Given the description of an element on the screen output the (x, y) to click on. 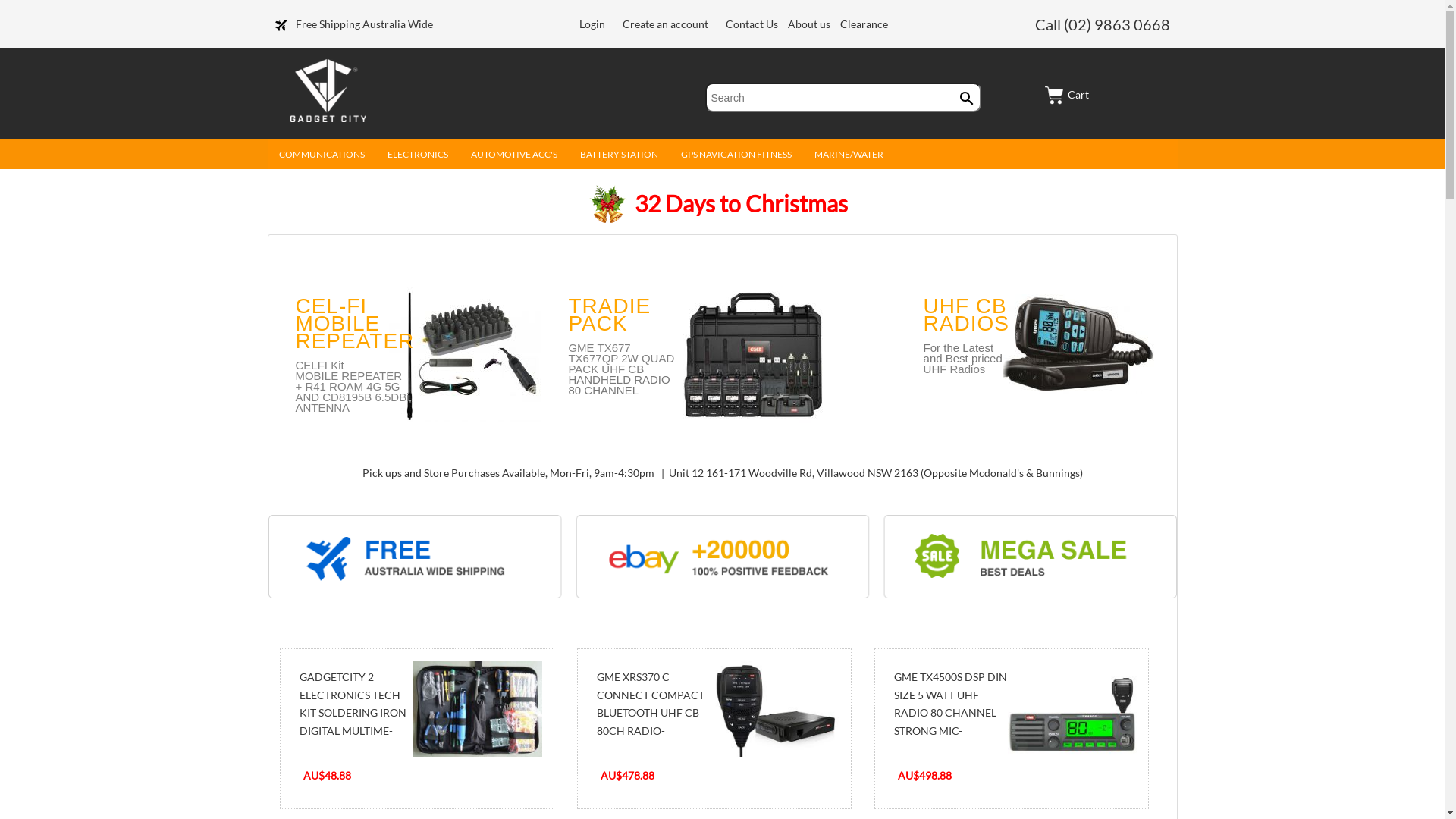
ELECTRONICS Element type: text (417, 157)
BATTERY STATION Element type: text (618, 157)
About us Element type: text (809, 23)
UHF CB RADIOS Element type: text (966, 314)
GME XRS370 C CONNECT COMPACT BLUETOOTH UHF CB 80CH RADIO- Element type: text (649, 703)
AUTOMOTIVE ACC'S Element type: text (513, 157)
COMMUNICATIONS Element type: text (320, 157)
  Cart Element type: text (1066, 93)
MARINE/WATER Element type: text (848, 157)
Clearance Element type: text (864, 23)
UHF Radios Element type: text (962, 373)
CEL-FI MOBILE REPEATER Element type: text (354, 323)
Create an account Element type: text (665, 23)
GME XRS370 C CONNECT COMPACT BLUETOOTH UHF CB 80CH RADIO Element type: hover (773, 708)
Login Element type: text (592, 23)
GME TX677
TX677QP 2W QUAD
PACK UHF CB Element type: text (620, 358)
Contact Us Element type: text (752, 23)
GPS NAVIGATION FITNESS Element type: text (735, 157)
(02) 9863 0668 Element type: text (1116, 24)
